Given the description of an element on the screen output the (x, y) to click on. 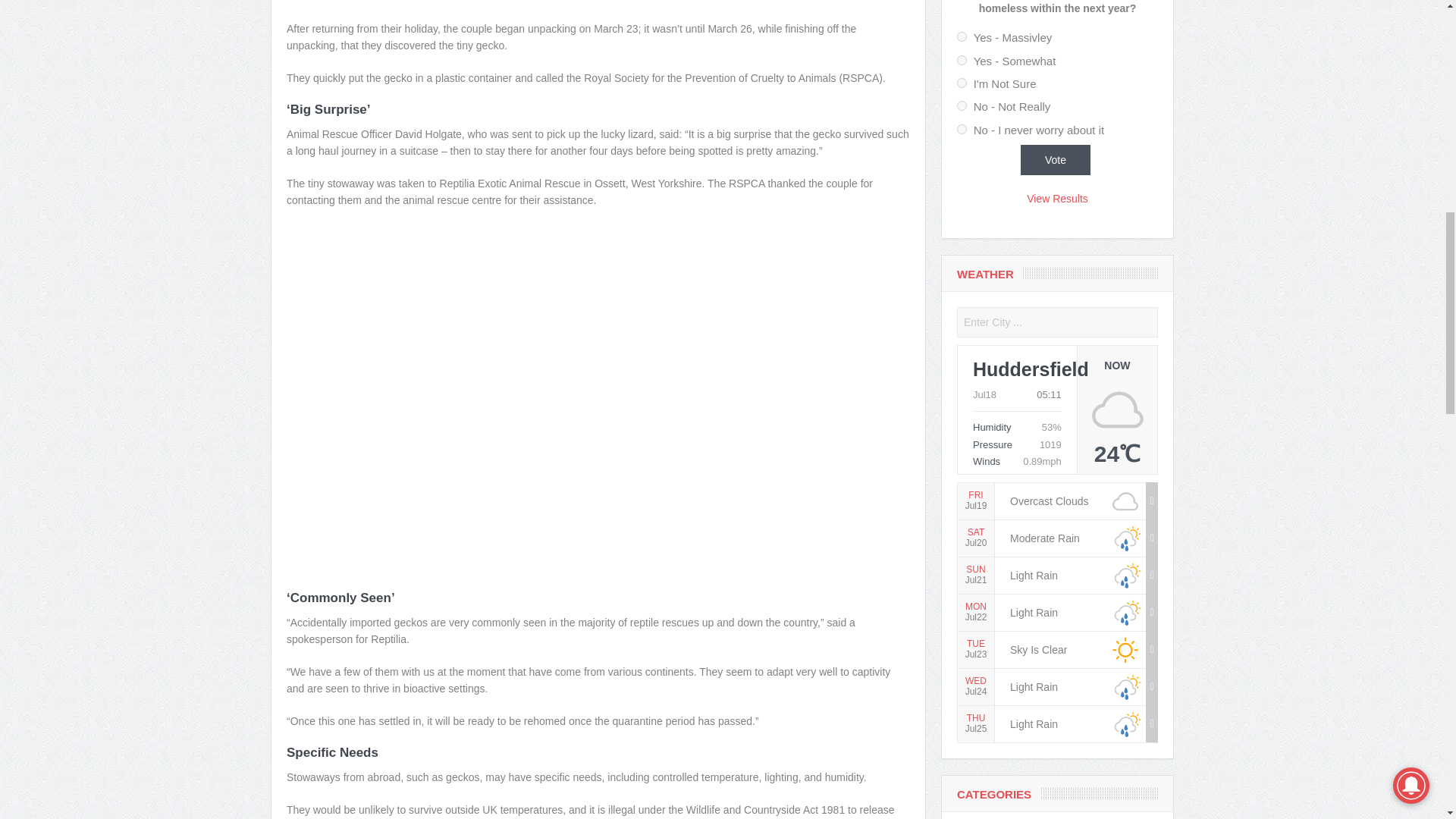
View Results Of This Poll (1056, 198)
102 (961, 60)
104 (961, 105)
   Vote    (1054, 159)
101 (961, 36)
103 (961, 82)
105 (961, 129)
